Given the description of an element on the screen output the (x, y) to click on. 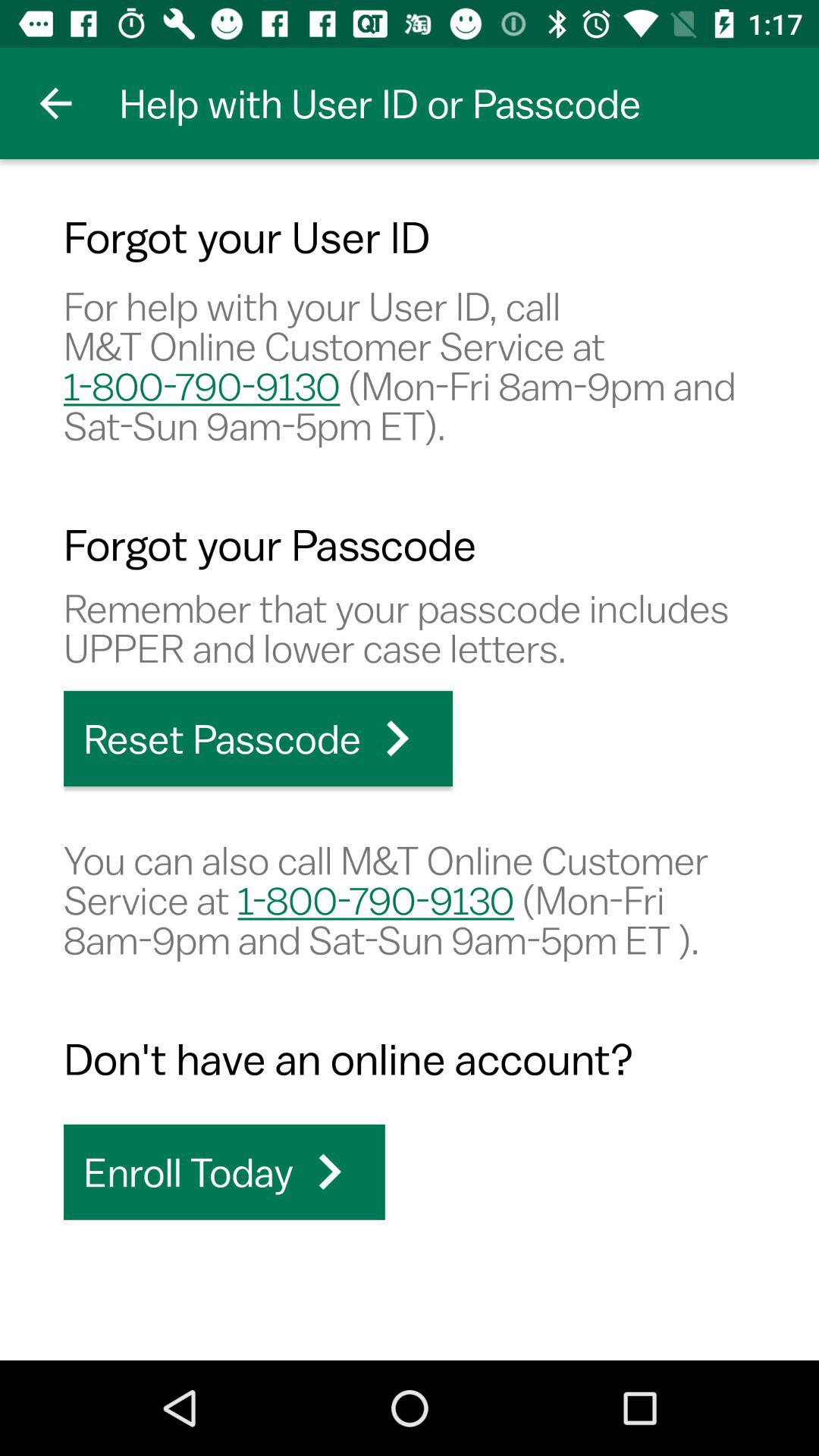
choose the icon at the top left corner (55, 103)
